Given the description of an element on the screen output the (x, y) to click on. 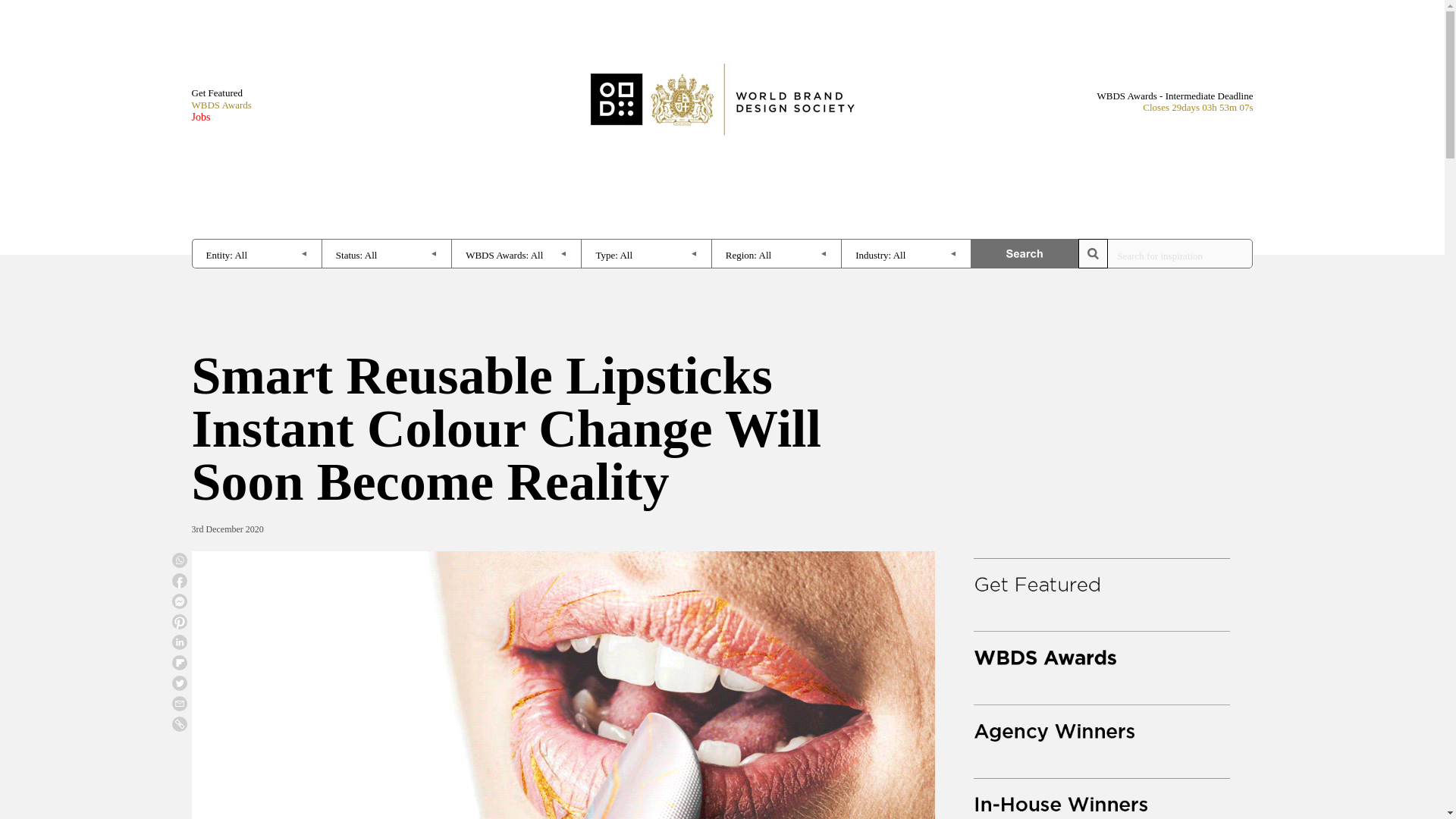
Get Featured (220, 92)
Jobs (220, 117)
WBDS Awards (220, 104)
Search (1024, 253)
Search (1024, 253)
